Given the description of an element on the screen output the (x, y) to click on. 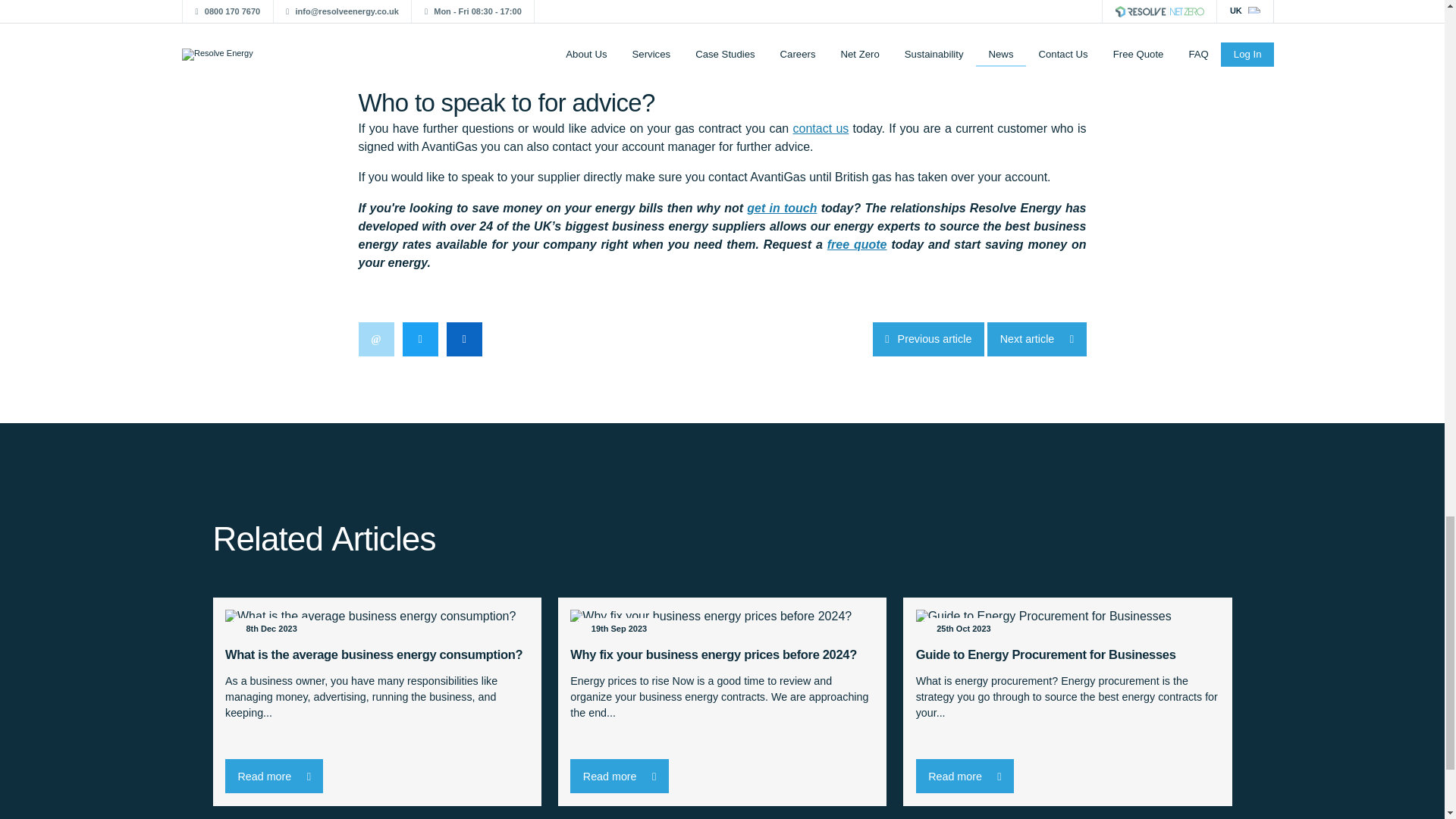
Next article (1036, 339)
Share via Email (375, 339)
get in touch (781, 207)
Share on Twitter (419, 339)
free quote (856, 244)
Share on LinkedIn (463, 339)
contact us (820, 128)
